Given the description of an element on the screen output the (x, y) to click on. 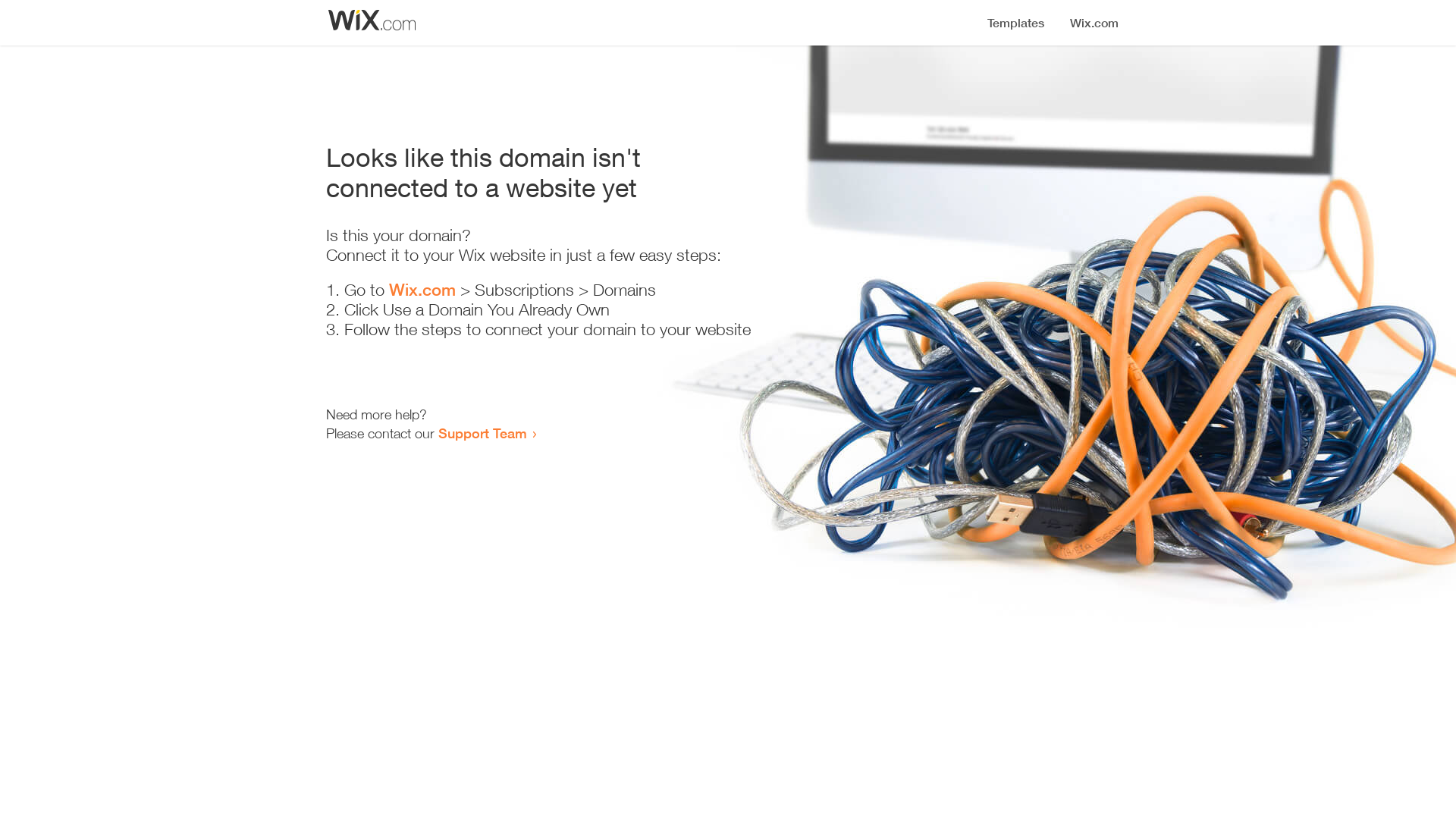
Wix.com Element type: text (422, 289)
Support Team Element type: text (482, 432)
